Given the description of an element on the screen output the (x, y) to click on. 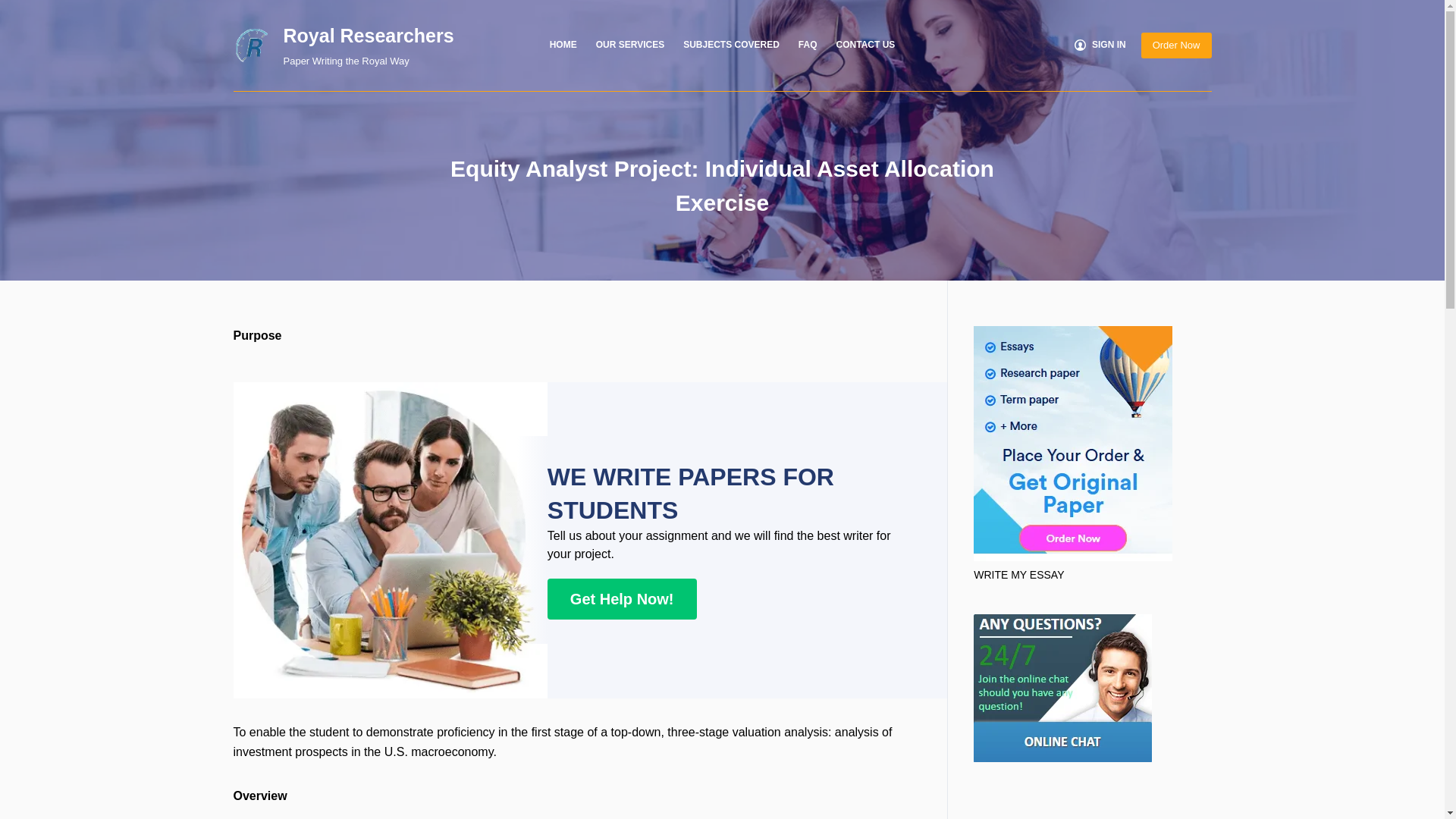
SIGN IN (1099, 45)
Order Now (1176, 45)
Skip to content (15, 7)
Get Help Now! (622, 598)
SUBJECTS COVERED (731, 45)
OUR SERVICES (629, 45)
Equity Analyst Project: Individual Asset Allocation Exercise (722, 185)
Royal Researchers (368, 35)
